Given the description of an element on the screen output the (x, y) to click on. 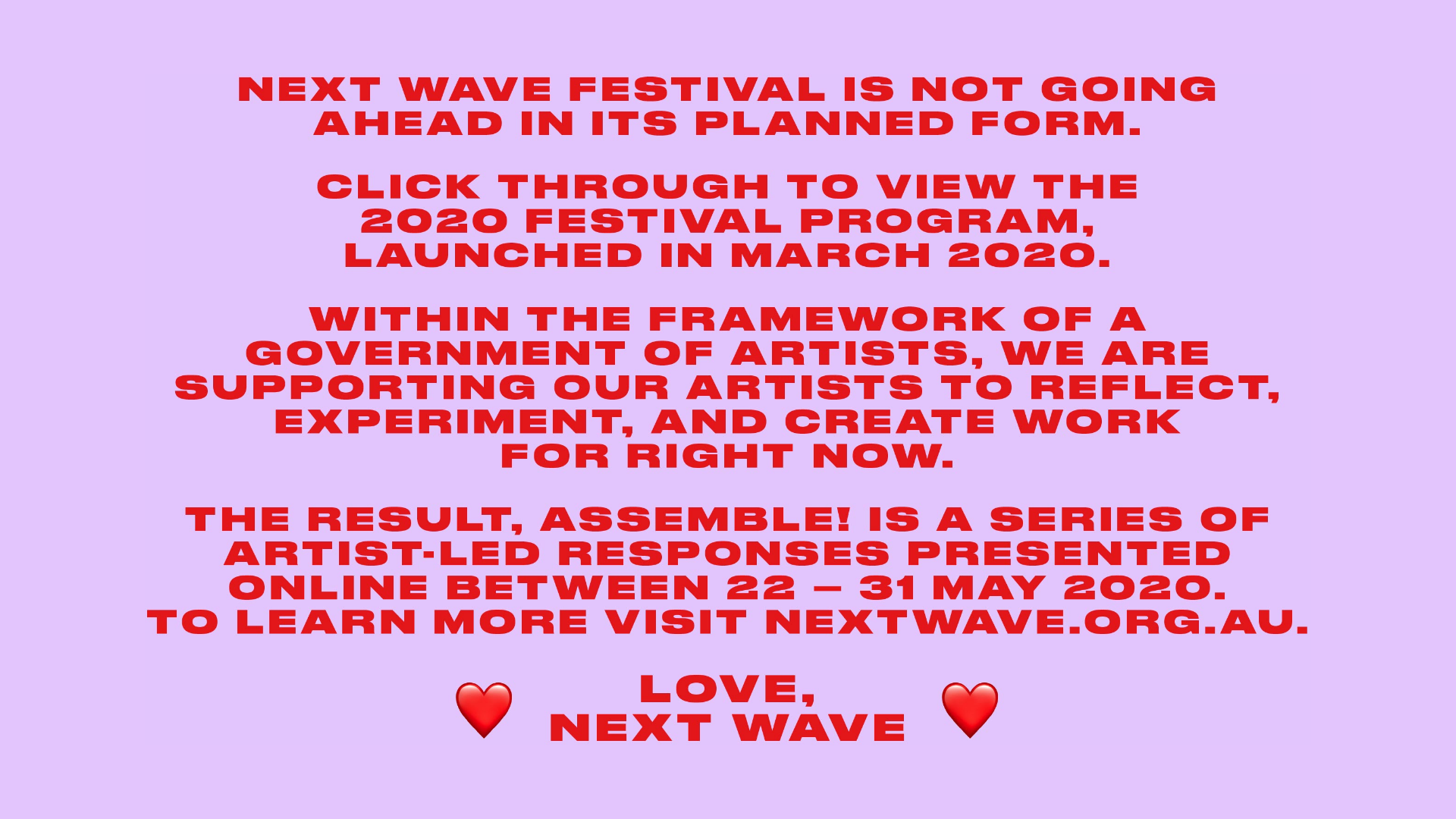
Northcote Town Hall Arts Centre Element type: text (830, 261)
TOGGLE HIGH VISIBILITY MODE Element type: text (1170, 47)
Subscribe Element type: text (1393, 771)
PROGRAM Element type: text (305, 47)
VIEW PLAIN TEXT VERSION Element type: text (1209, 47)
DOWNLOAD ACCESS GUIDE Element type: text (1245, 47)
View my cart Element type: text (1360, 47)
Instagram Element type: text (1327, 771)
View my wishlist Element type: text (1327, 47)
Twitter Element type: text (1360, 771)
Toggle site search Element type: text (1393, 47)
View my account Element type: text (1295, 47)
HOME Element type: text (106, 47)
ACCESS Element type: text (526, 47)
Facebook Element type: text (1295, 771)
